Given the description of an element on the screen output the (x, y) to click on. 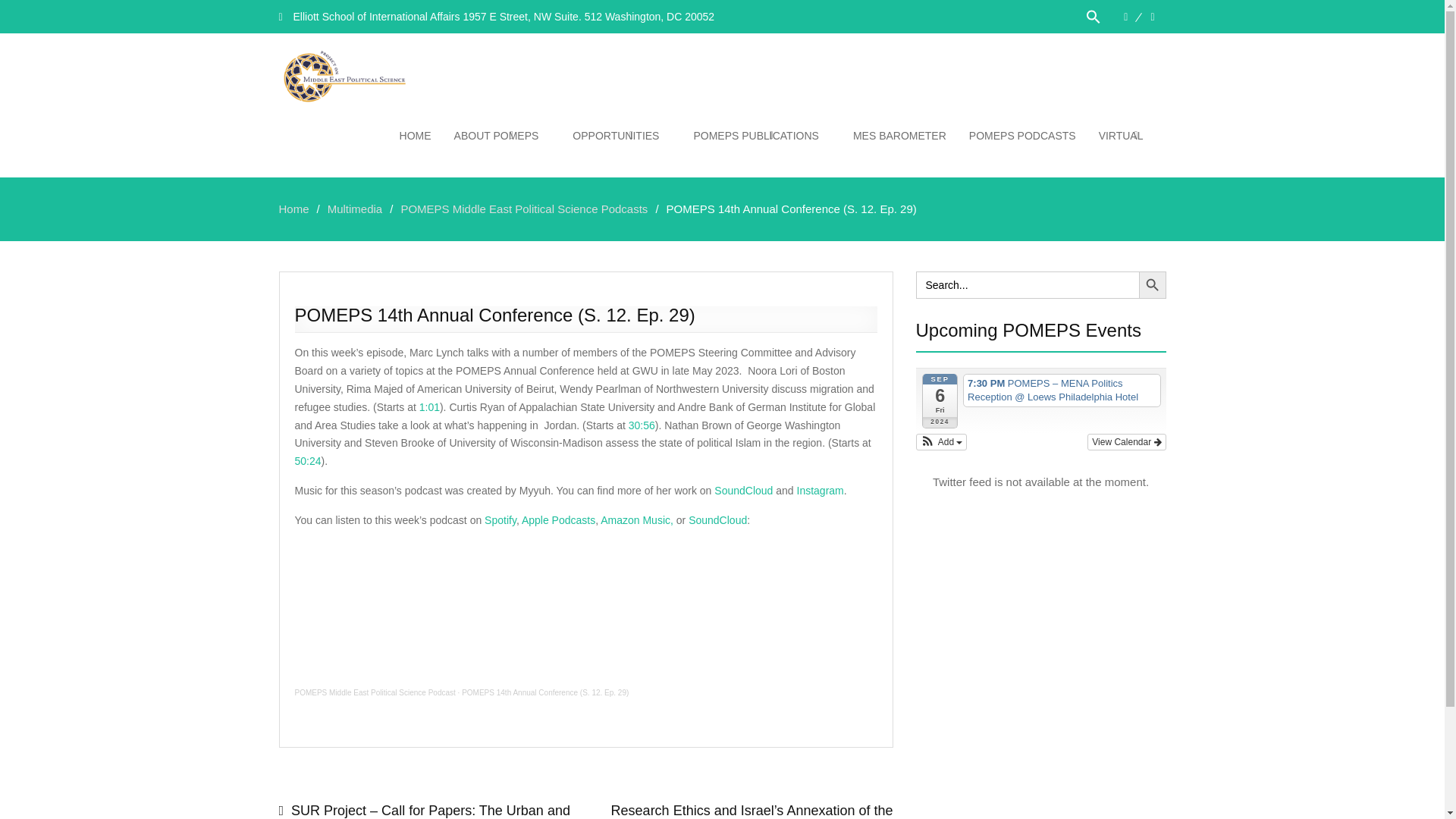
POMEPS PUBLICATIONS (761, 135)
POMEPS Middle East Political Science Podcasts (523, 208)
Multimedia (354, 208)
50:24 (307, 460)
Apple Podcasts (558, 520)
1:01 (429, 407)
Twitter (1152, 17)
OPPORTUNITIES (620, 135)
MES BAROMETER (899, 135)
Spotify (500, 520)
